Given the description of an element on the screen output the (x, y) to click on. 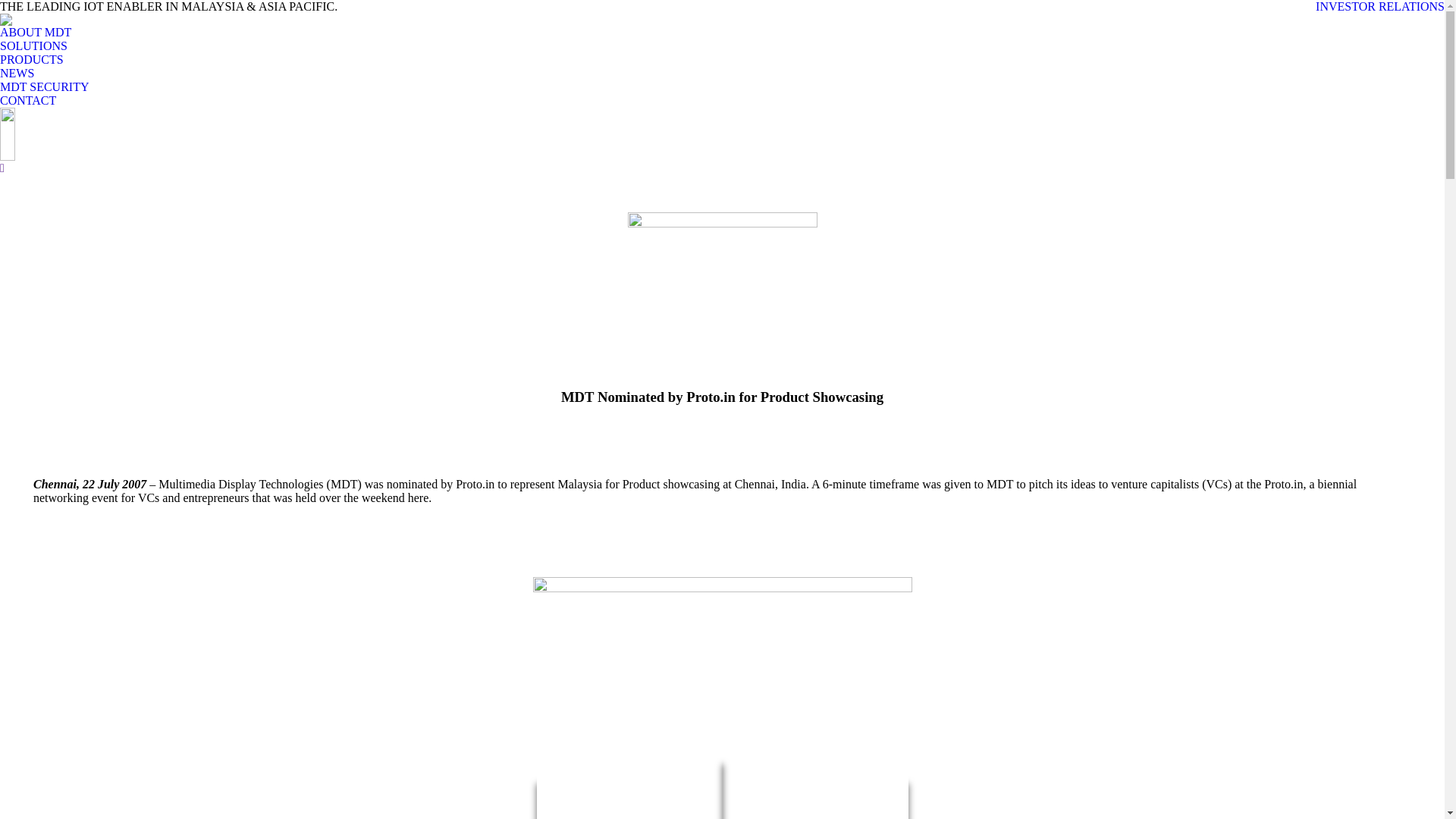
SOLUTIONS Element type: text (33, 46)
ABOUT MDT Element type: text (35, 32)
MDT SECURITY Element type: text (44, 87)
NEWS Element type: text (17, 73)
INVESTOR RELATIONS Element type: text (1379, 6)
Go! Element type: text (11, 8)
CONTACT Element type: text (28, 100)
PRODUCTS Element type: text (31, 59)
